Given the description of an element on the screen output the (x, y) to click on. 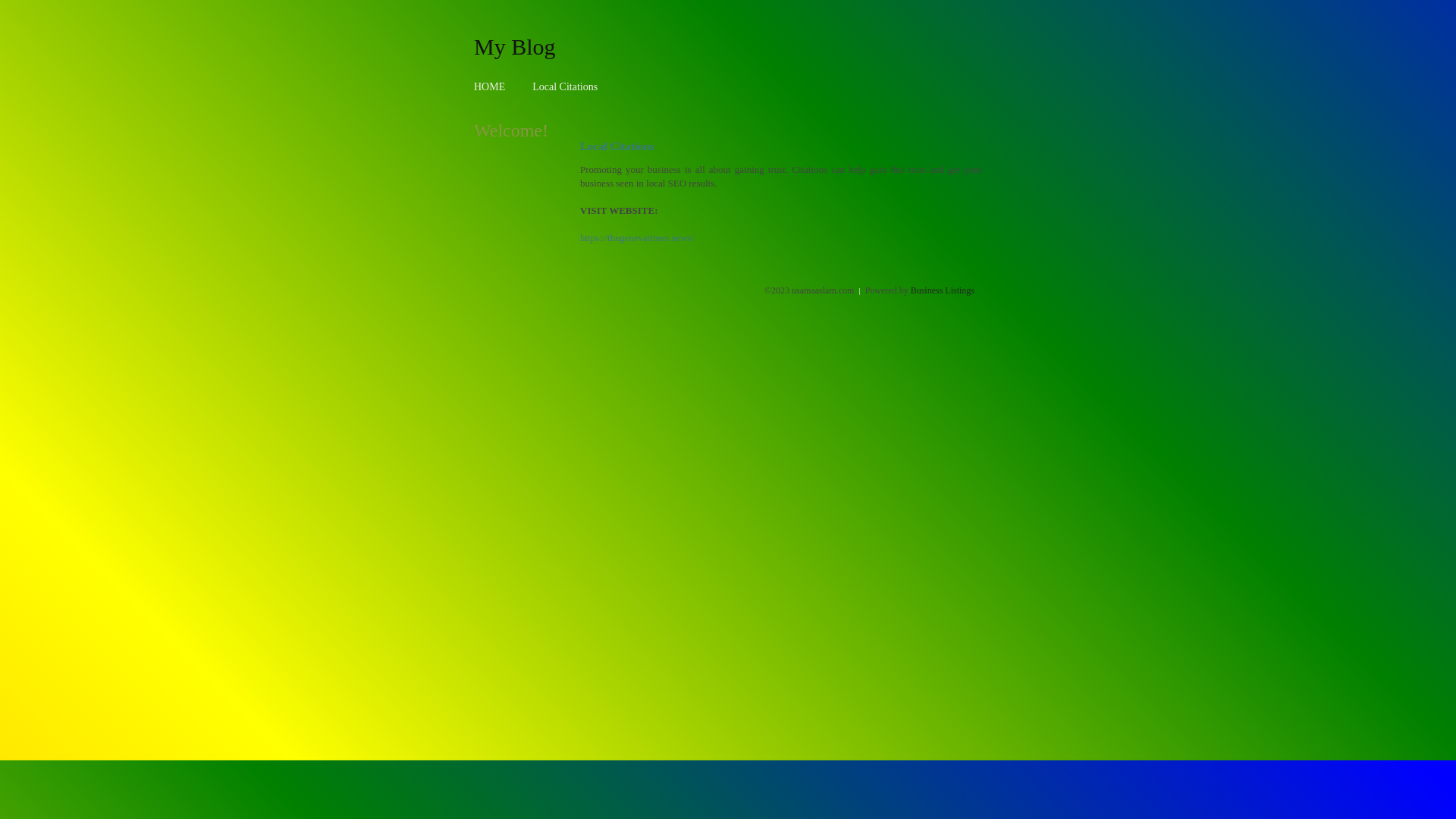
My Blog Element type: text (514, 46)
https://thegenevatimes.news/ Element type: text (637, 237)
HOME Element type: text (489, 86)
Business Listings Element type: text (942, 290)
Local Citations Element type: text (564, 86)
